Given the description of an element on the screen output the (x, y) to click on. 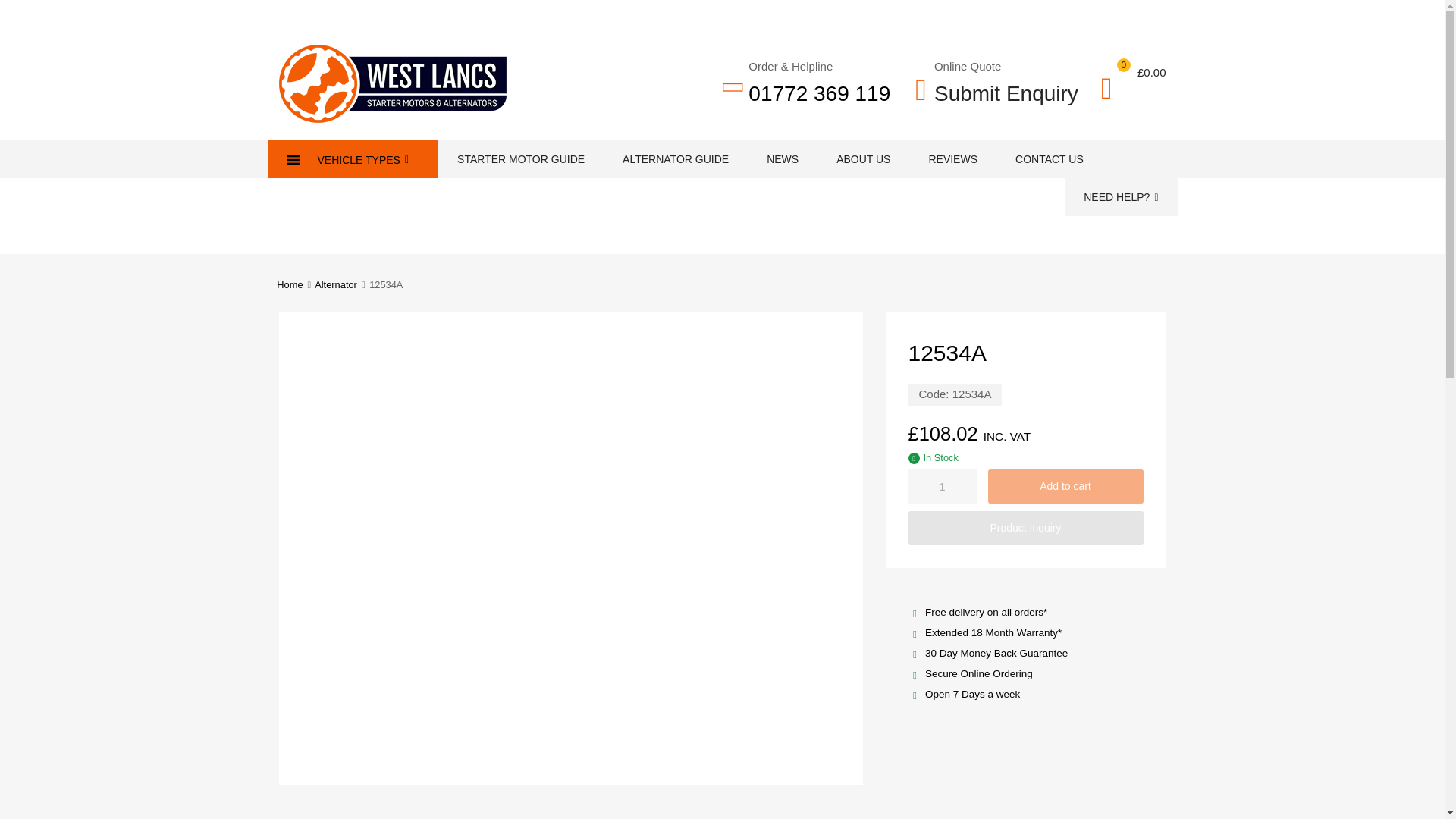
Home (289, 284)
STARTER MOTOR GUIDE (521, 159)
ABOUT US (862, 159)
Alternator (335, 284)
ALTERNATOR GUIDE (676, 159)
01772 369 119 (818, 93)
Submit Enquiry (996, 93)
Reviews Widget (722, 232)
VEHICLE TYPES (352, 159)
REVIEWS (951, 159)
West Lancs Auto Electrics (392, 118)
CONTACT US (1048, 159)
Add to cart (1064, 486)
NEED HELP? (1120, 197)
Product Inquiry (1025, 528)
